Given the description of an element on the screen output the (x, y) to click on. 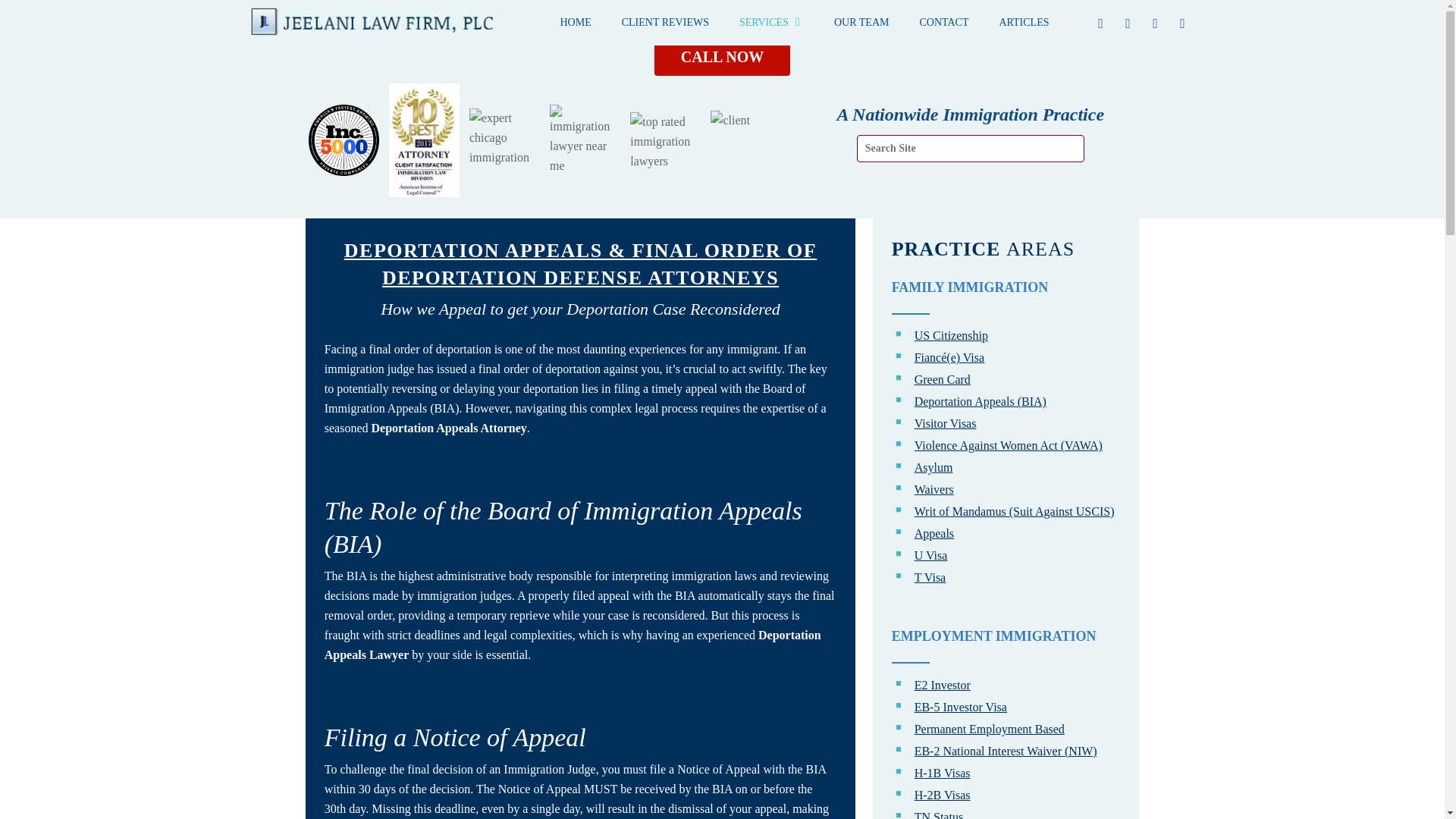
LINKEDIN (1128, 22)
OUR TEAM (861, 22)
SERVICES (770, 22)
CLIENT REVIEWS (665, 22)
YOUTUBE (1155, 22)
ARTICLES (1024, 22)
FACEBOOK (1101, 22)
CONTACT (944, 22)
INSTAGRAM (1182, 22)
HOME (574, 22)
